Given the description of an element on the screen output the (x, y) to click on. 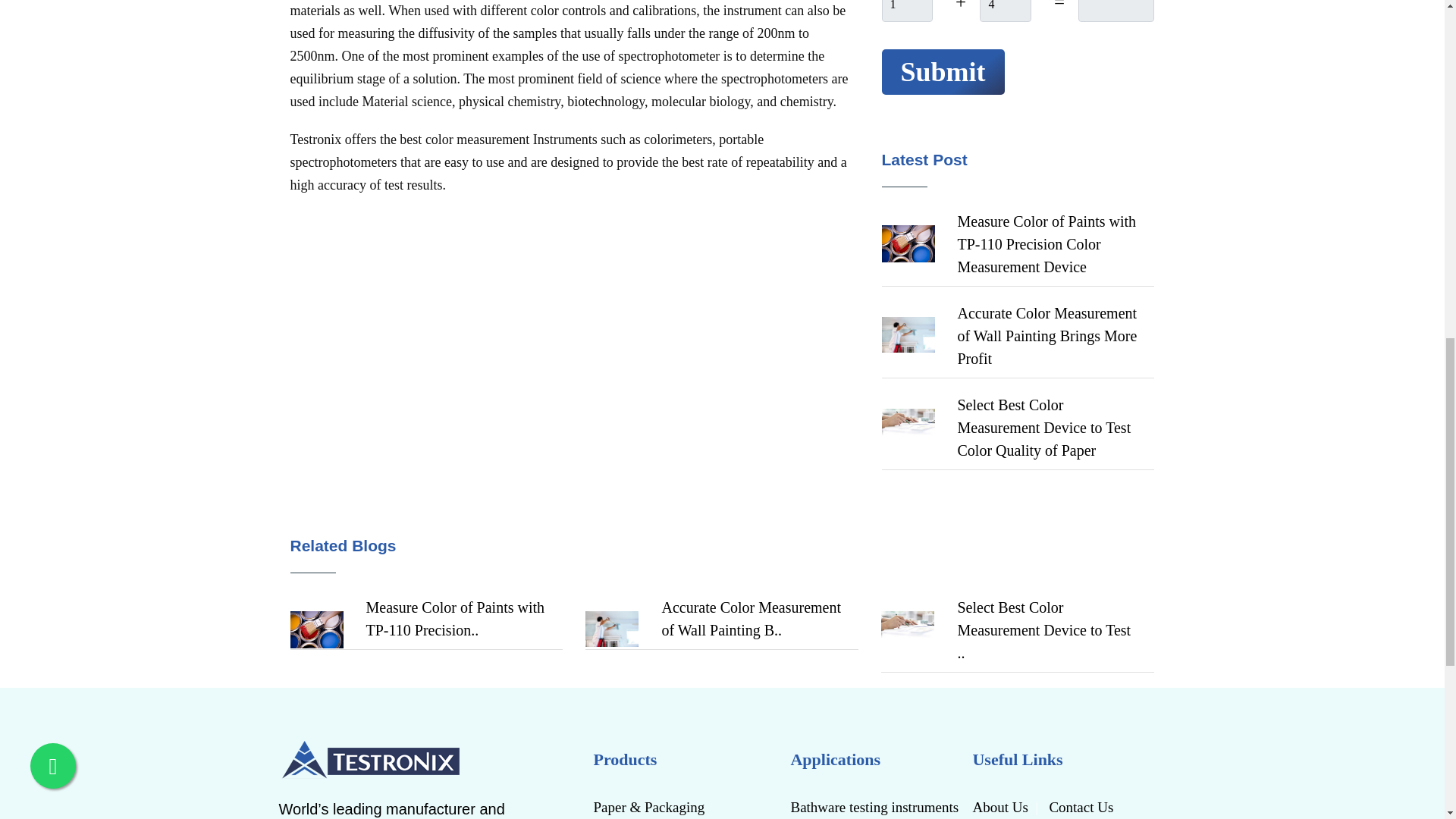
1 (905, 11)
Bathware testing instruments (875, 806)
Measure Color of Paints with TP-110 Precision.. (454, 618)
Accurate Color Measurement of Wall Painting B.. (751, 618)
4 (1004, 11)
Select Best Color Measurement Device to Test .. (1043, 629)
Applications (875, 759)
